Given the description of an element on the screen output the (x, y) to click on. 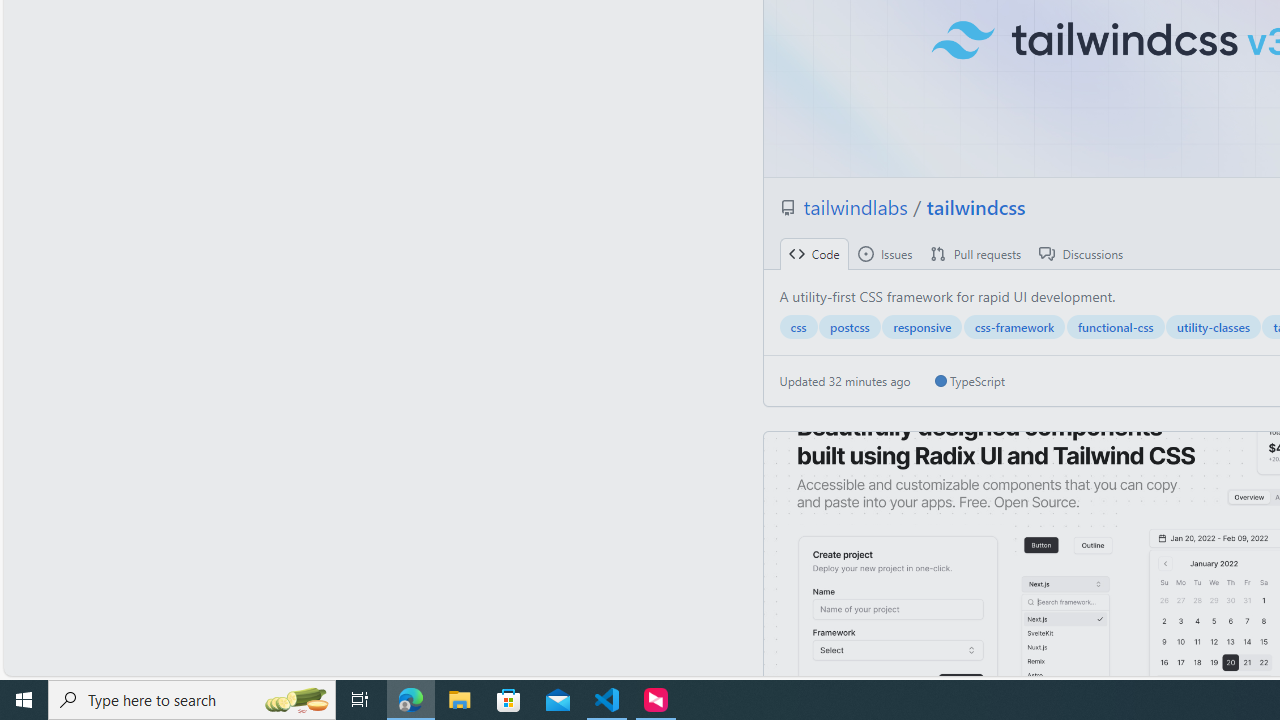
 Pull requests (975, 254)
 Issues (884, 254)
tailwindcss (975, 206)
css-framework (1014, 327)
 Code (813, 254)
 Pull requests (975, 254)
TypeScript (969, 381)
css (798, 327)
 Code (813, 254)
functional-css (1115, 327)
utility-classes (1213, 327)
 Issues (884, 254)
responsive (921, 327)
 Discussions (1081, 254)
postcss (849, 327)
